Given the description of an element on the screen output the (x, y) to click on. 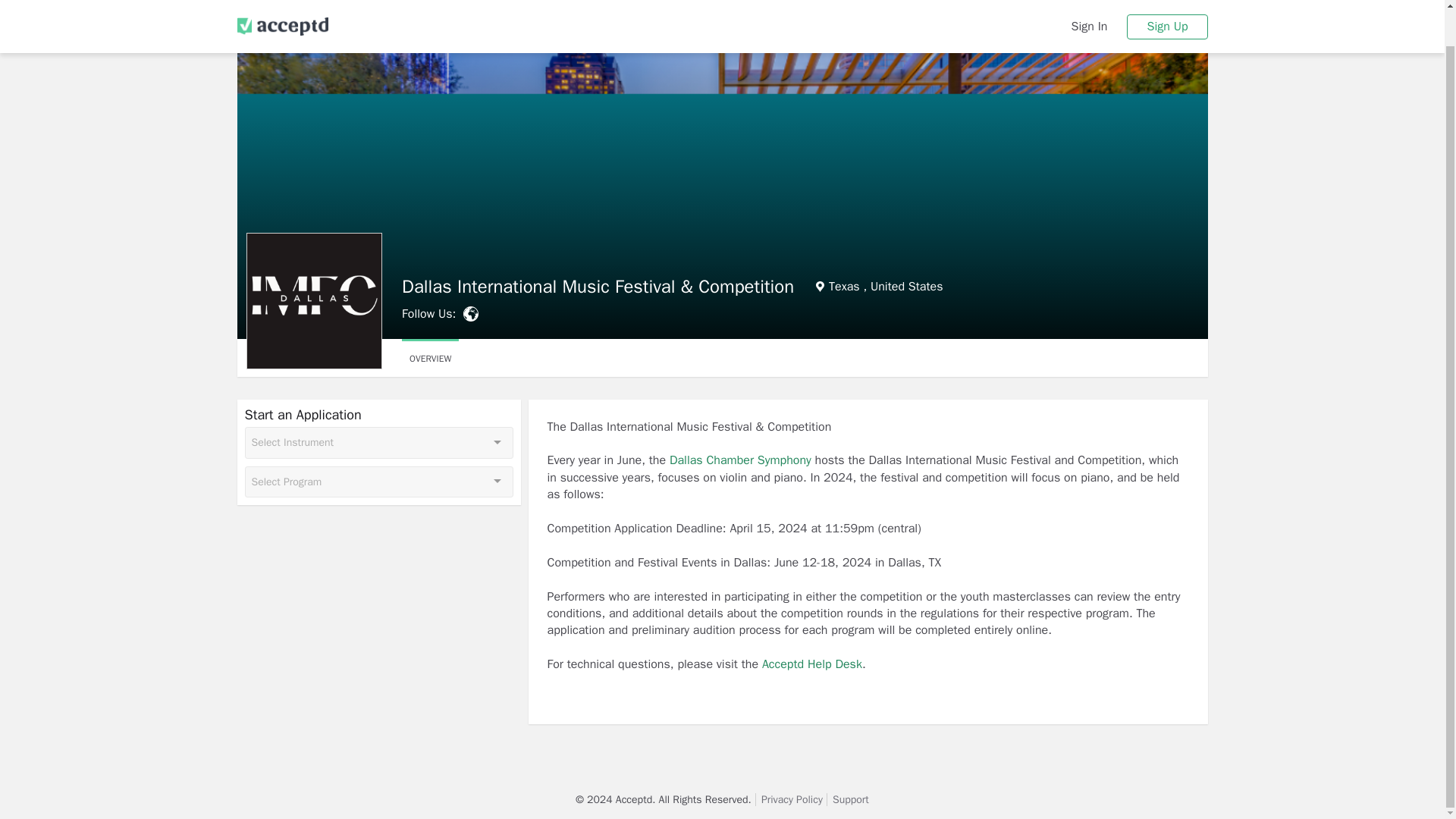
Website (471, 313)
Texas , United States (879, 286)
Acceptd Help Desk (811, 663)
Support (850, 799)
Privacy Policy (791, 799)
Dallas Chamber Symphony (739, 459)
